Given the description of an element on the screen output the (x, y) to click on. 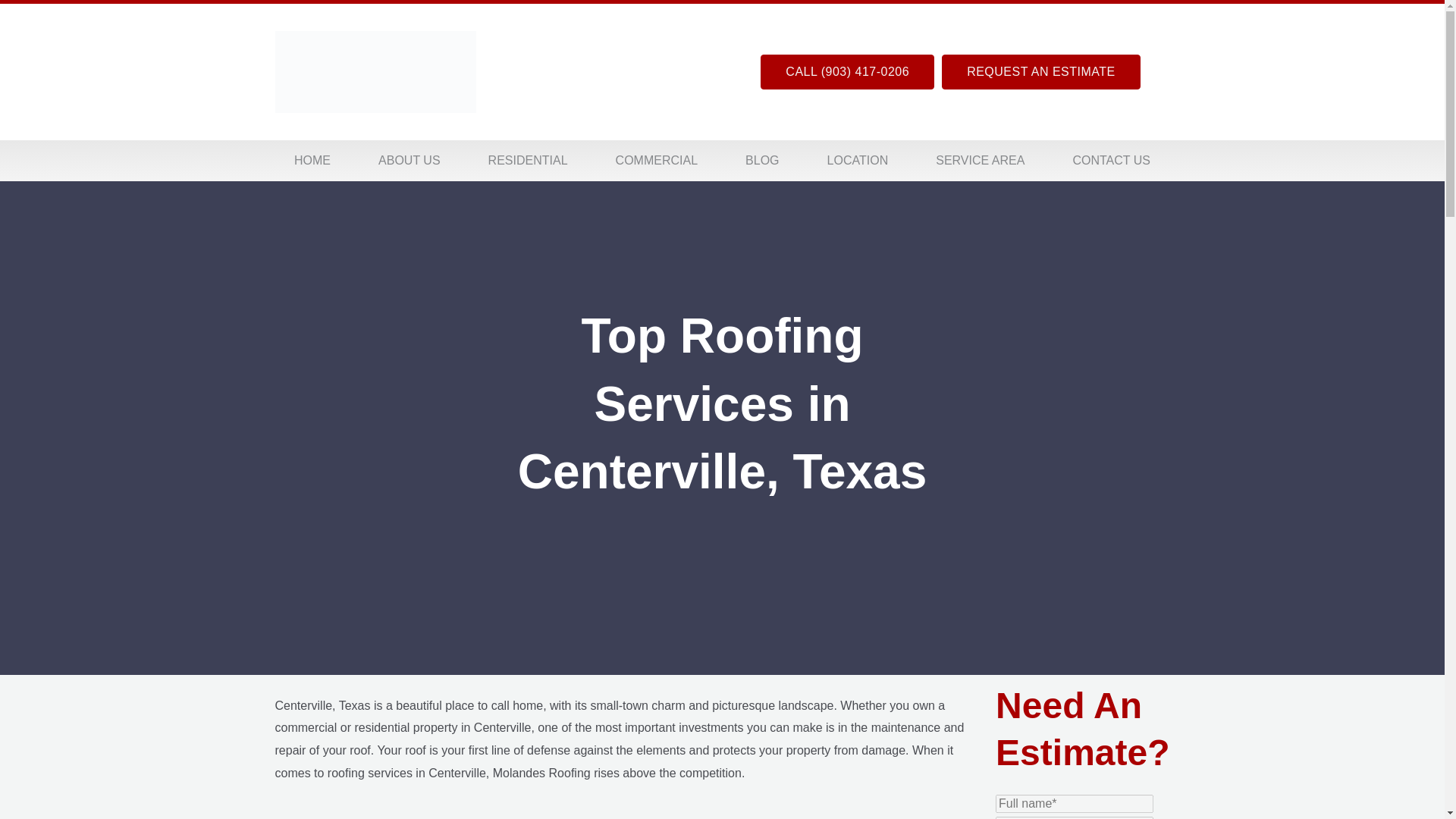
COMMERCIAL (656, 160)
BLOG (762, 160)
HOME (311, 160)
LOCATION (857, 160)
RESIDENTIAL (527, 160)
REQUEST AN ESTIMATE (1041, 71)
SERVICE AREA (980, 160)
ABOUT US (409, 160)
